Given the description of an element on the screen output the (x, y) to click on. 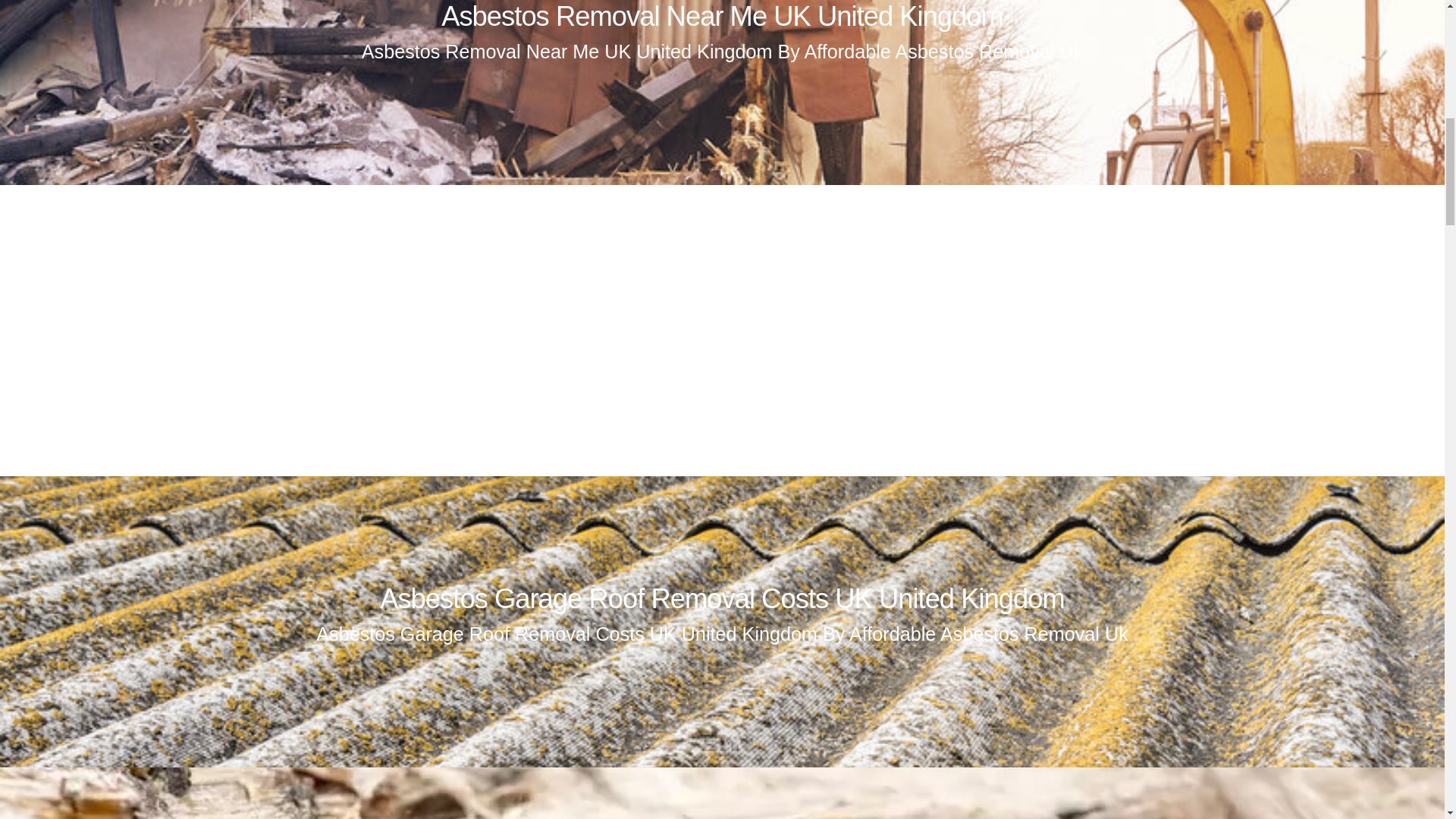
Asbestos Testing UK United Kingdom (721, 306)
Asbestos Garage Roof Removal Costs UK United Kingdom (722, 598)
Asbestos Removal Near Me UK United Kingdom (722, 15)
